Given the description of an element on the screen output the (x, y) to click on. 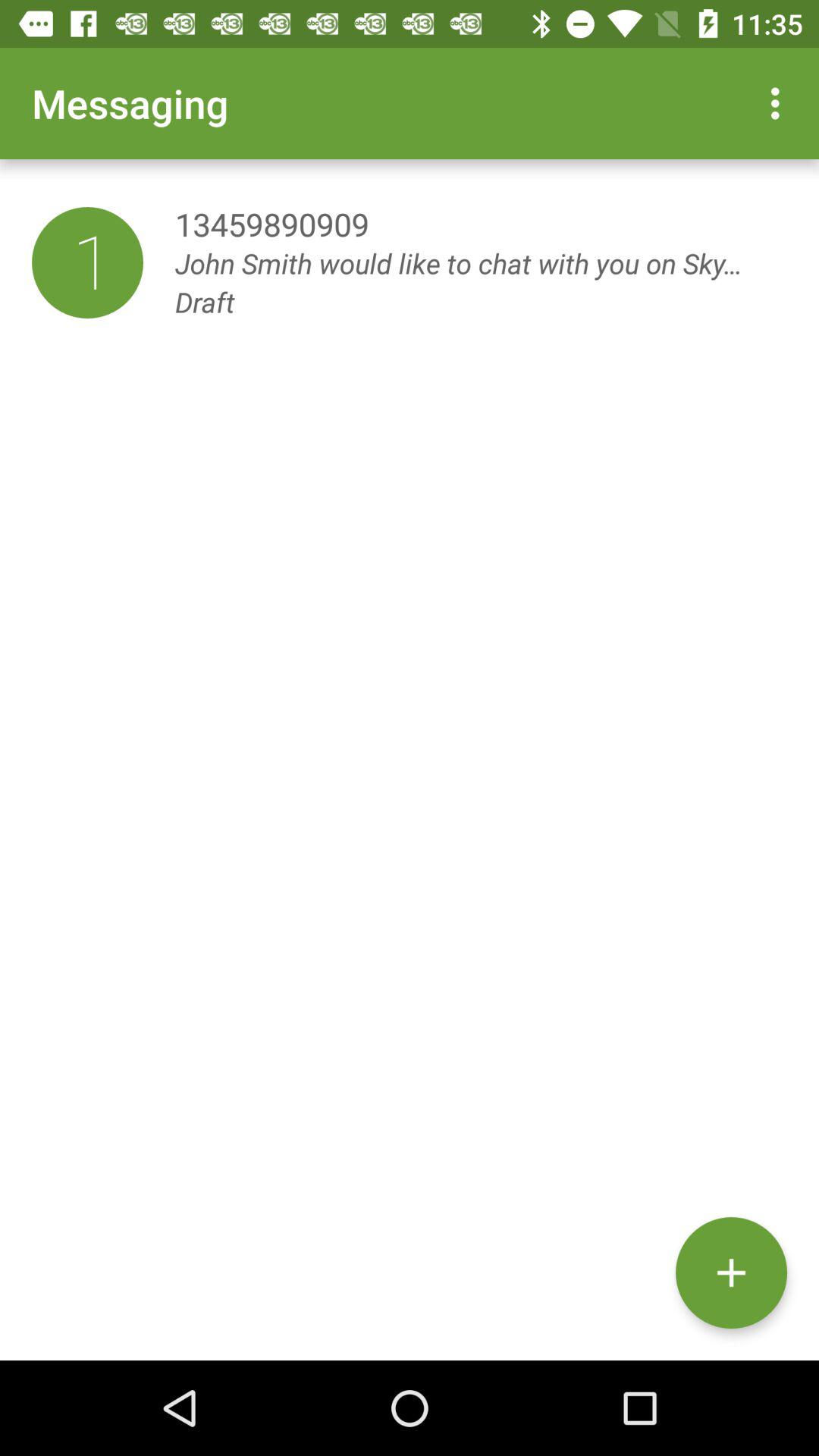
open the icon next to messaging (779, 103)
